Given the description of an element on the screen output the (x, y) to click on. 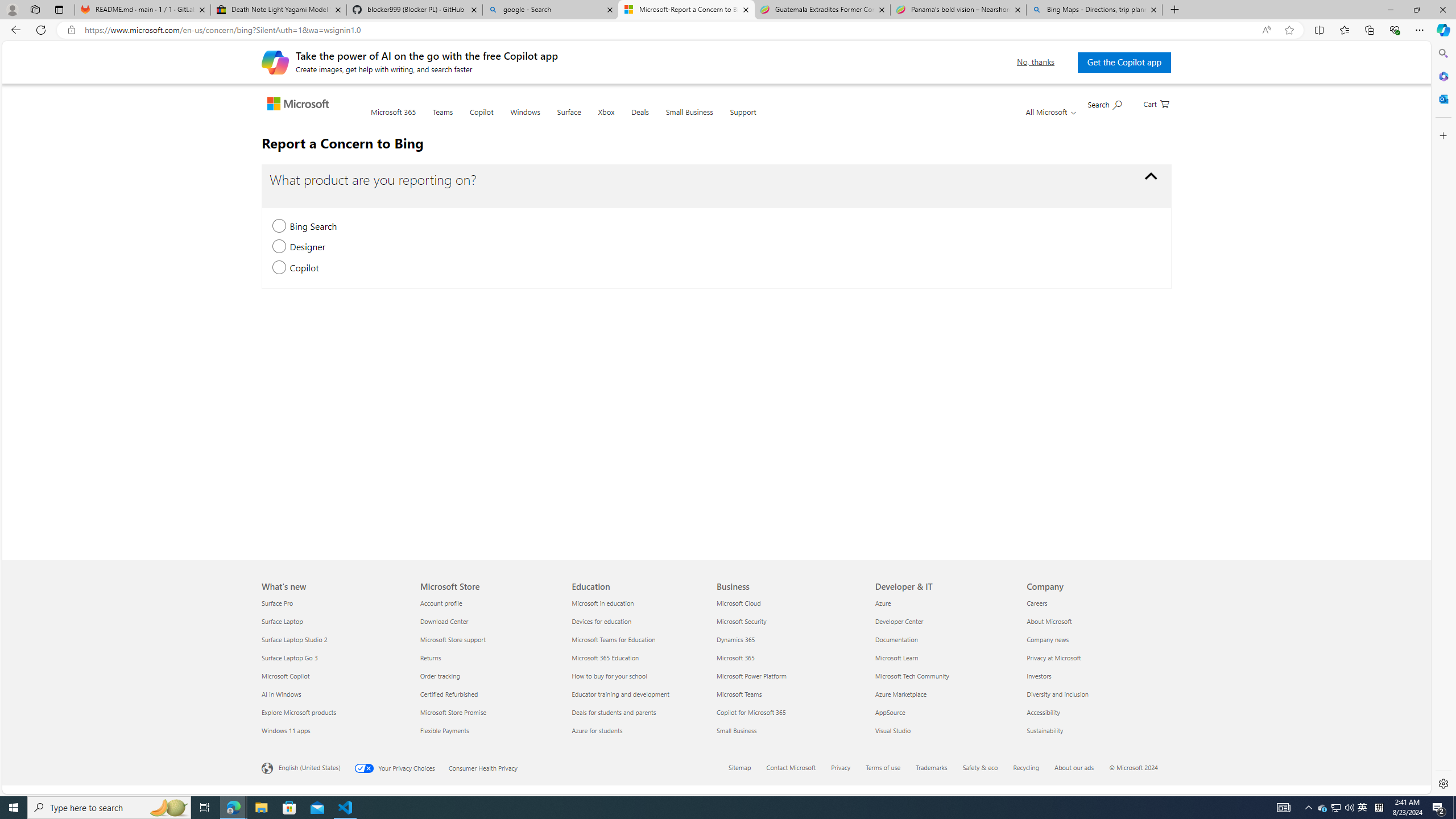
Surface Laptop Studio 2 (334, 638)
Terms of use (890, 768)
Copilot for Microsoft 365 Business (751, 711)
Returns (489, 657)
Surface Laptop Go 3 What's new (289, 656)
Microsoft Cloud Business (738, 602)
Azure Marketplace Developer & IT (901, 693)
Small Business (689, 118)
AppSource Developer & IT (890, 711)
Microsoft Cloud (788, 602)
AI in Windows (334, 693)
Deals for students and parents Education (614, 711)
Microsoft Store Promise Microsoft Store (452, 711)
Microsoft Store Promise (489, 711)
